Given the description of an element on the screen output the (x, y) to click on. 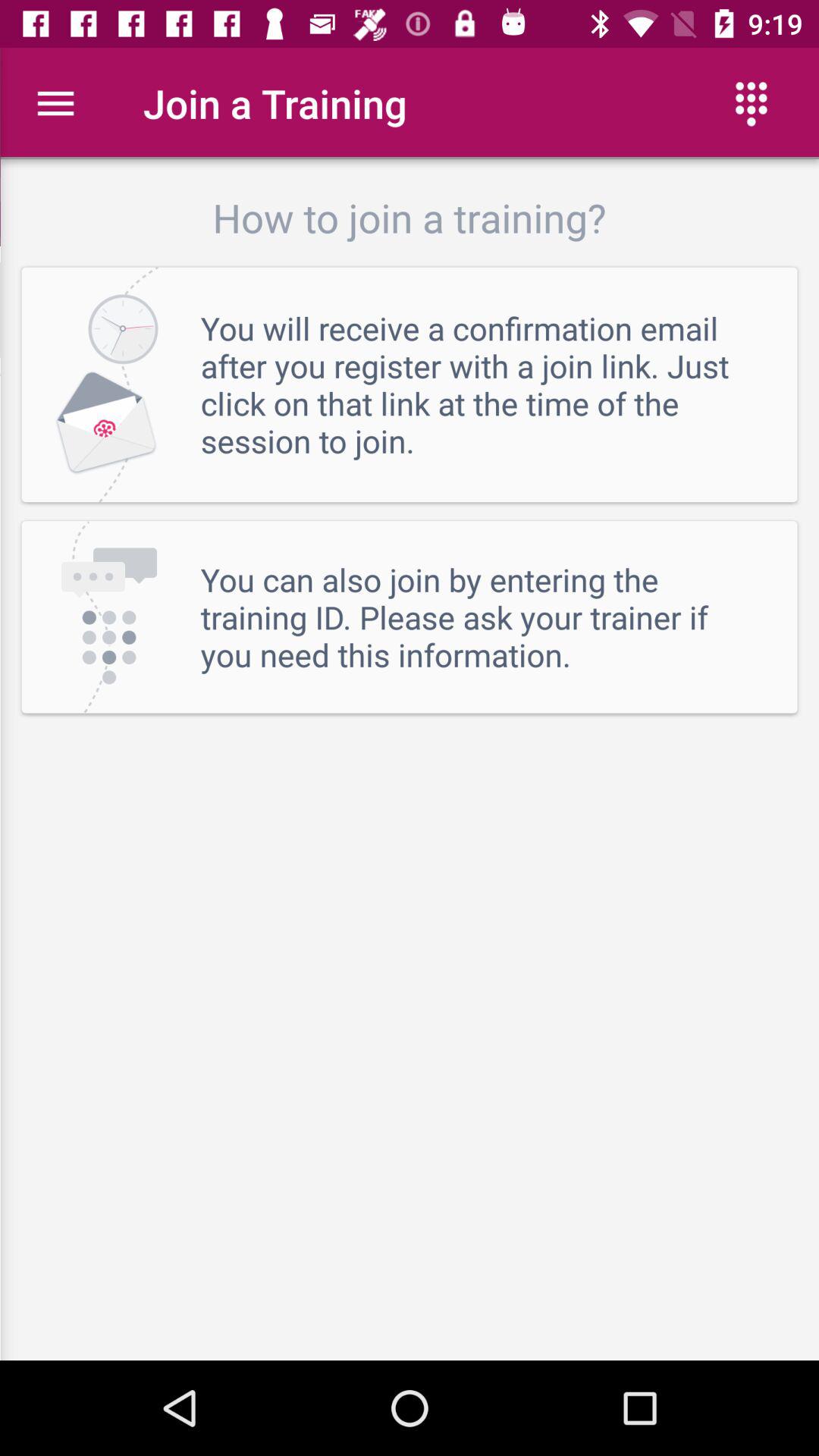
select icon to the left of the join a training icon (55, 103)
